Given the description of an element on the screen output the (x, y) to click on. 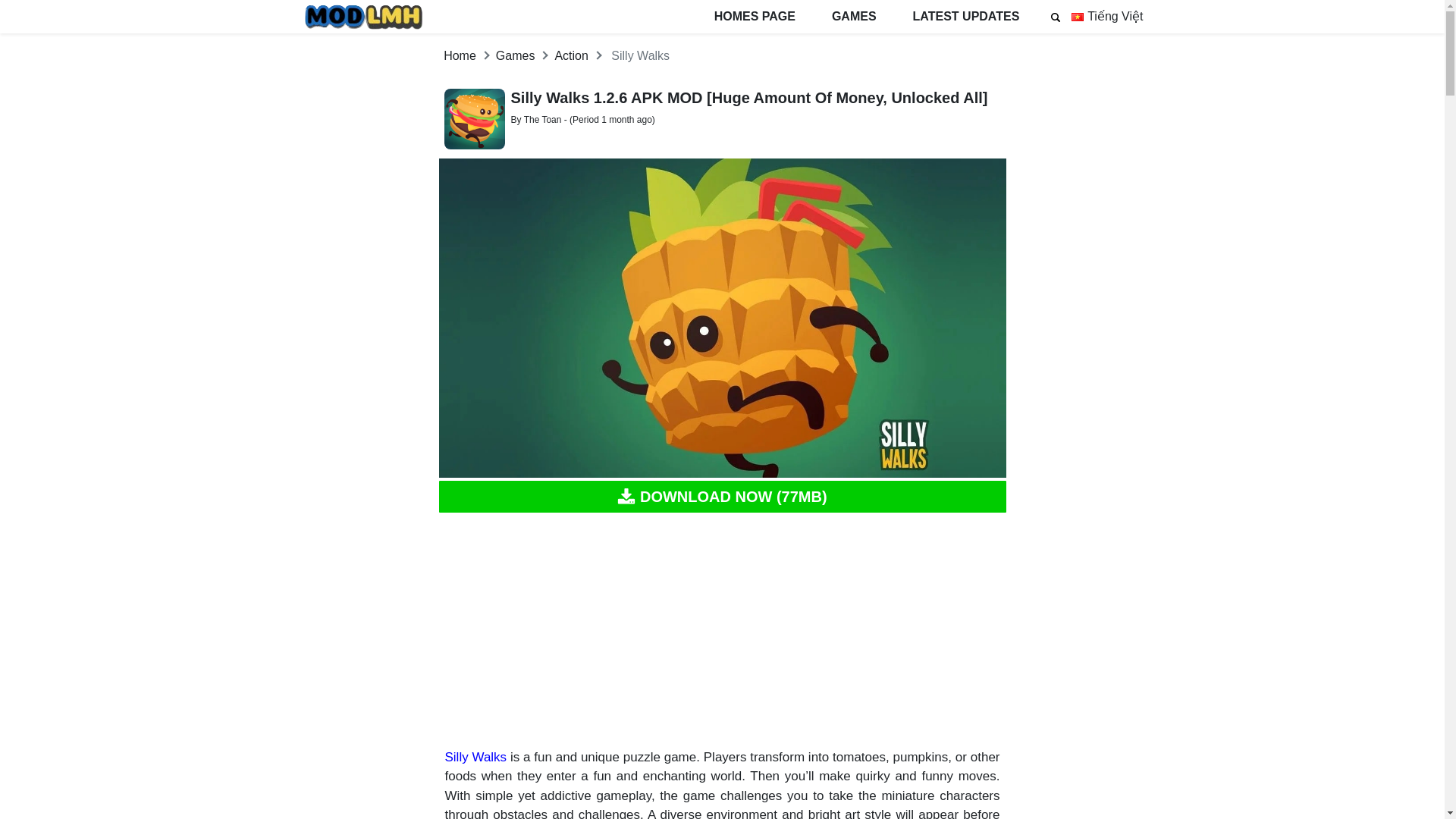
Games (515, 55)
GAMES (854, 16)
The Toan (543, 119)
LATEST UPDATES (966, 16)
Home (460, 55)
Silly Walks (475, 757)
Action (571, 55)
Advertisement (722, 630)
HOMES PAGE (754, 16)
Home (460, 55)
